Given the description of an element on the screen output the (x, y) to click on. 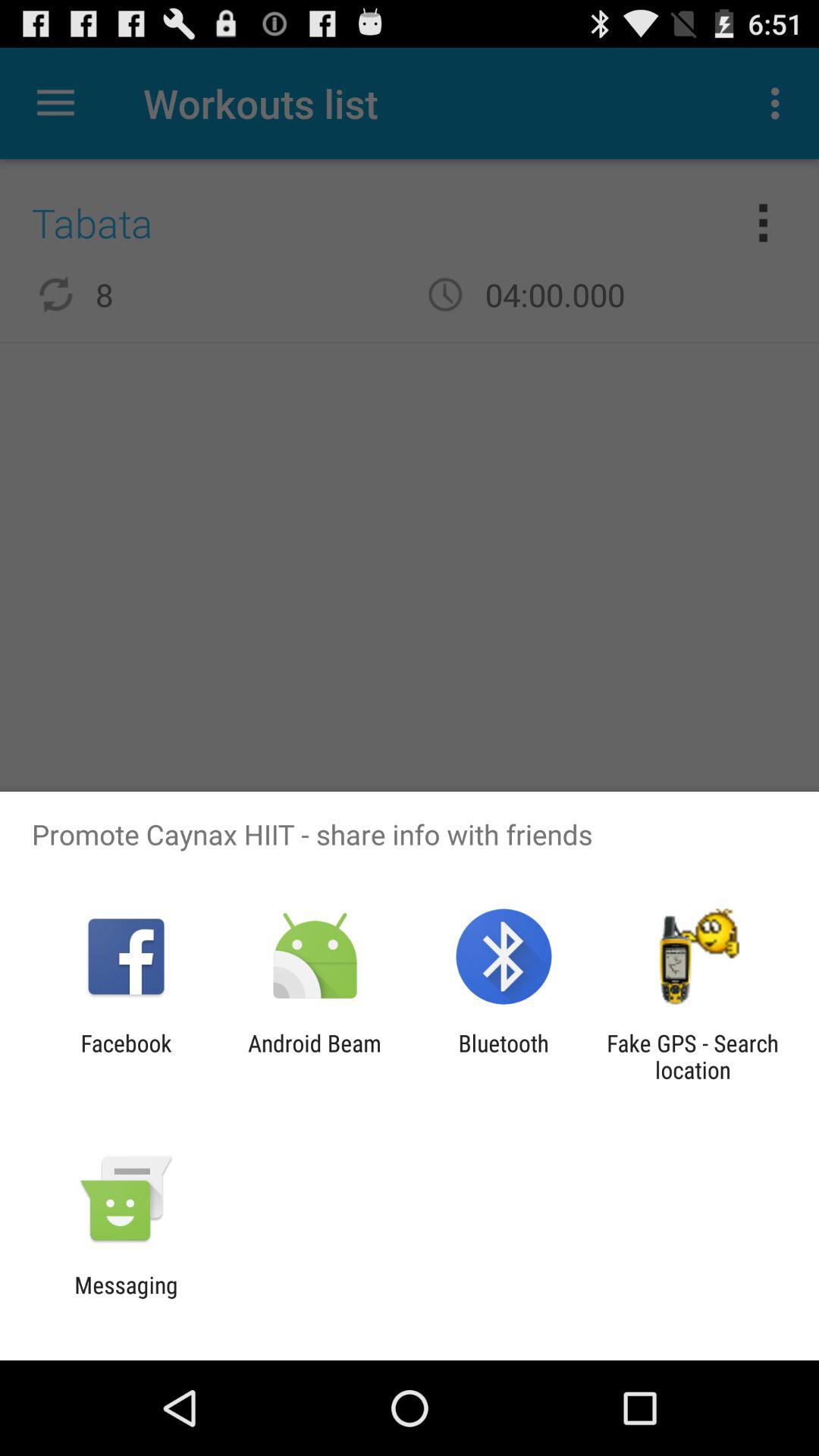
flip to the facebook (125, 1056)
